Given the description of an element on the screen output the (x, y) to click on. 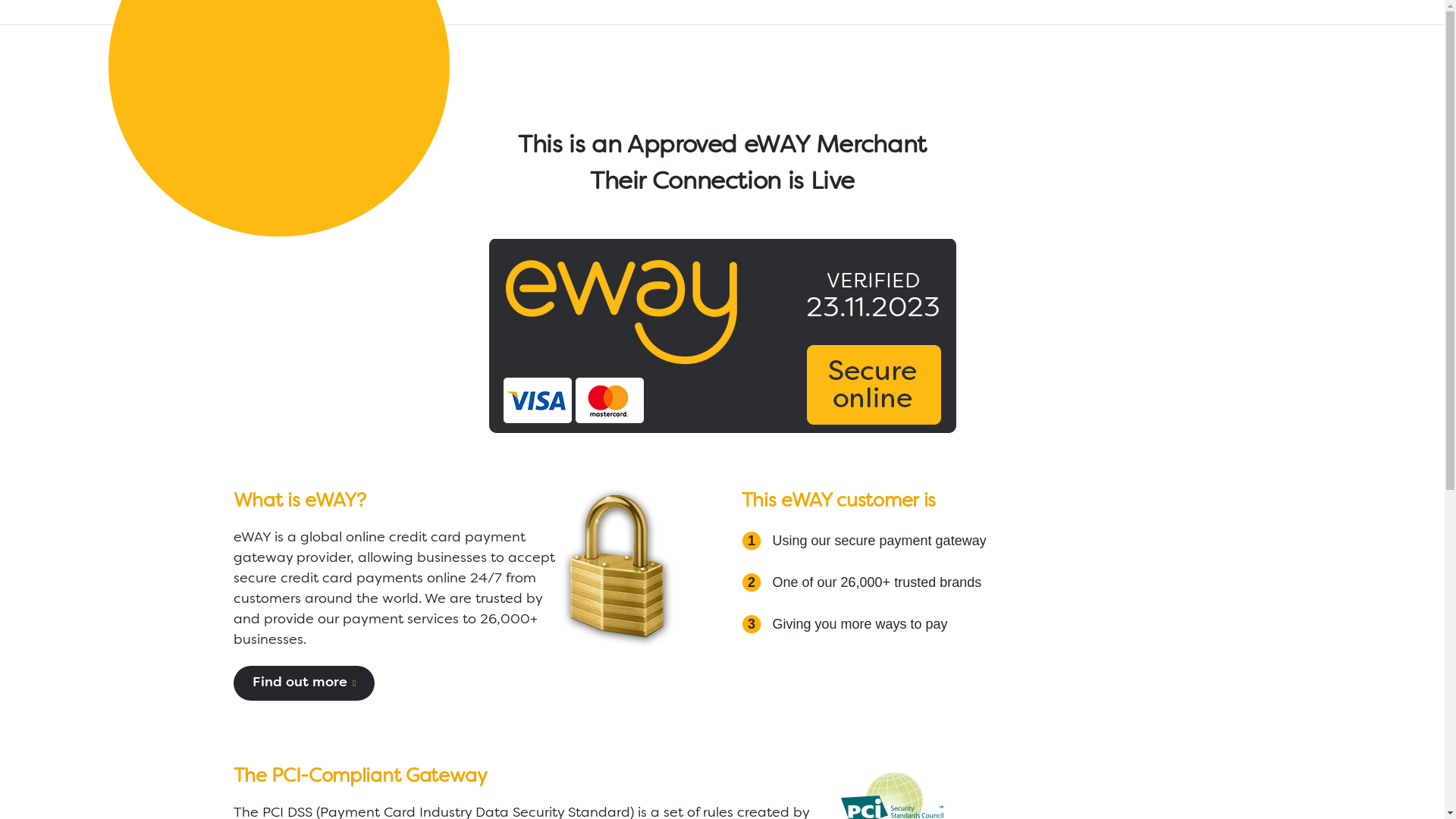
Secure Payments Element type: hover (617, 567)
Find out more Element type: text (303, 682)
